Given the description of an element on the screen output the (x, y) to click on. 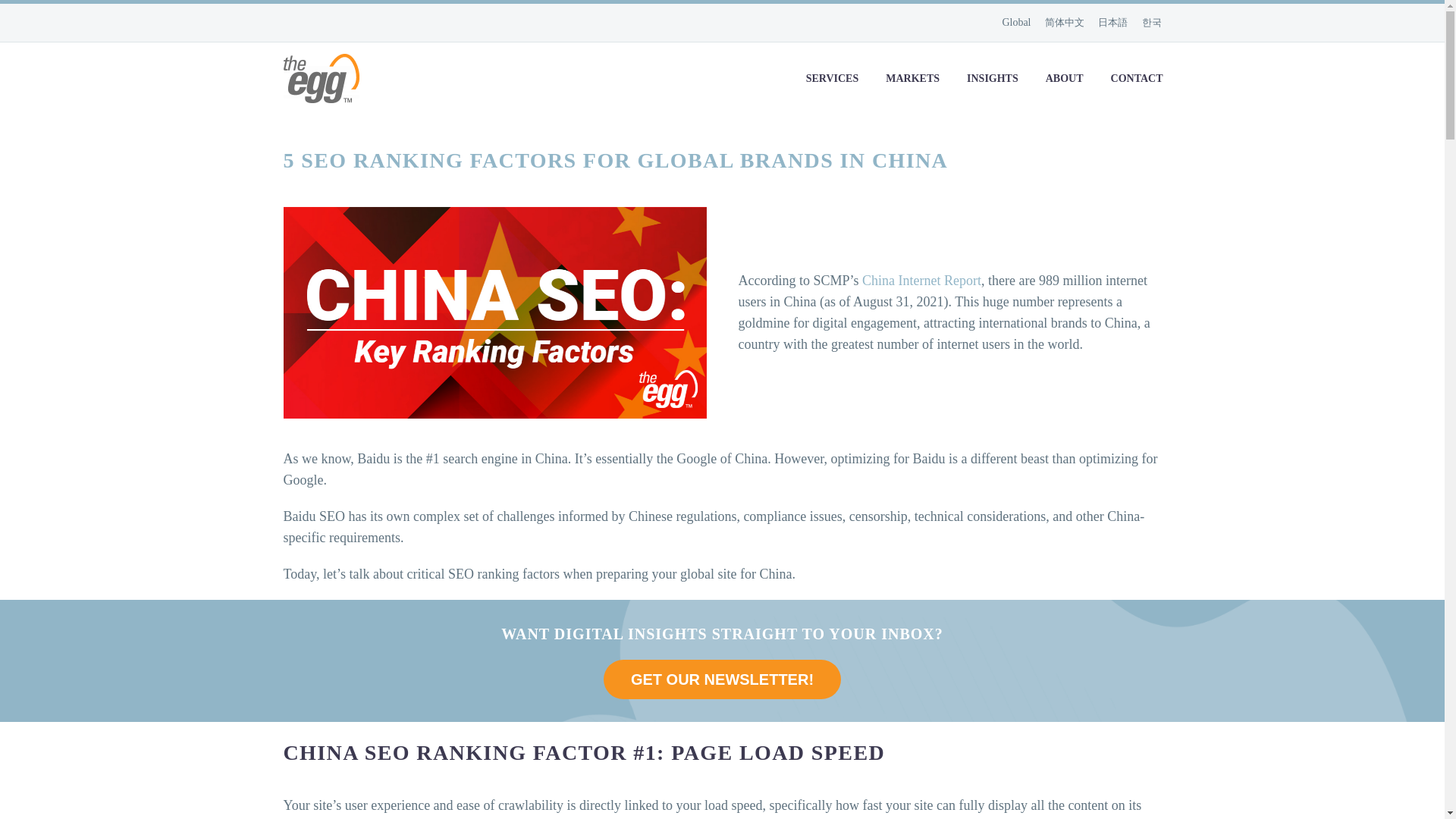
INSIGHTS (992, 77)
Global (1017, 21)
SERVICES (832, 77)
MARKETS (912, 77)
